Given the description of an element on the screen output the (x, y) to click on. 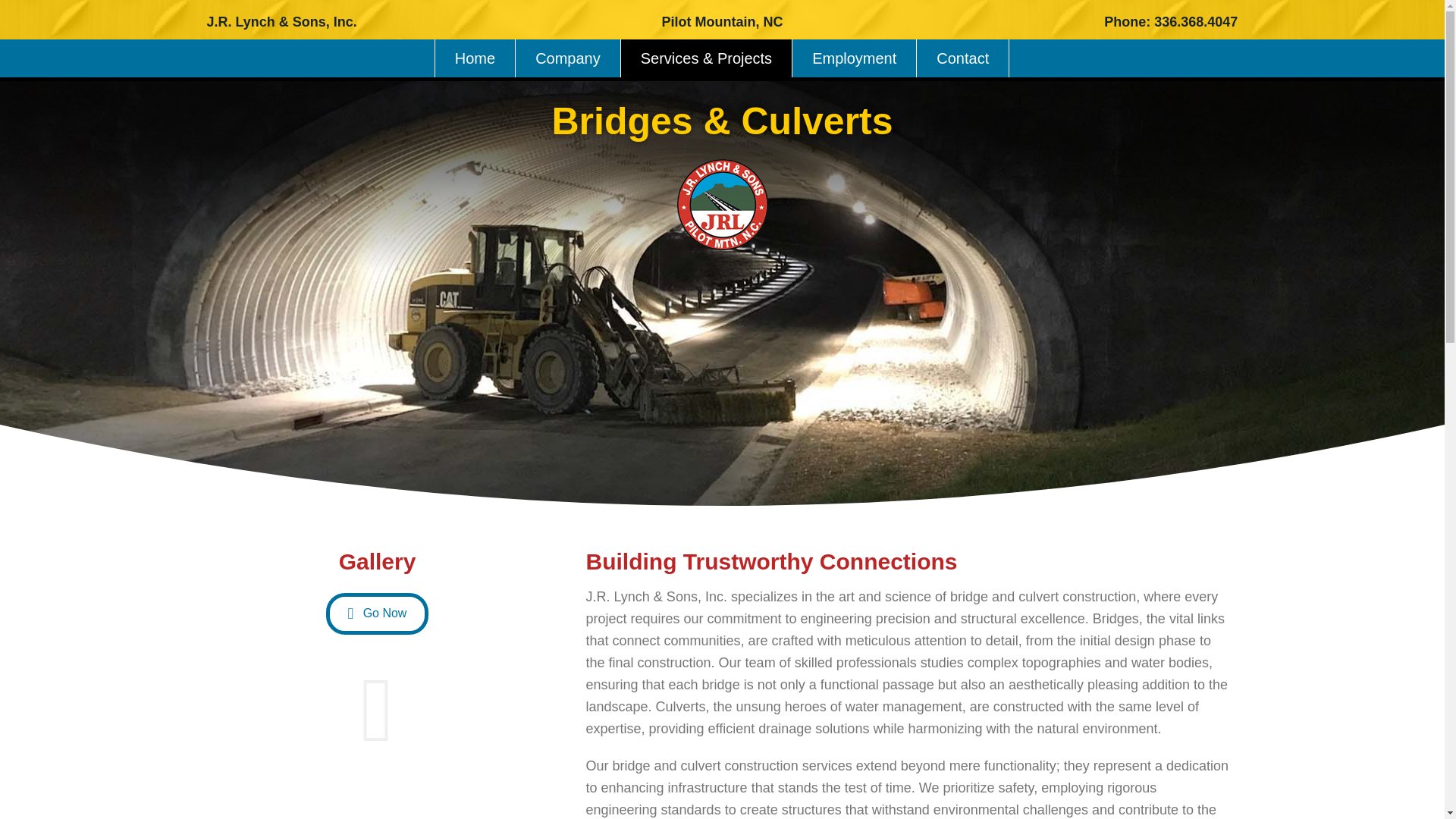
Company (568, 57)
Employment (854, 57)
lynch-logo-180 (722, 204)
Contact (962, 57)
Home (474, 57)
